Given the description of an element on the screen output the (x, y) to click on. 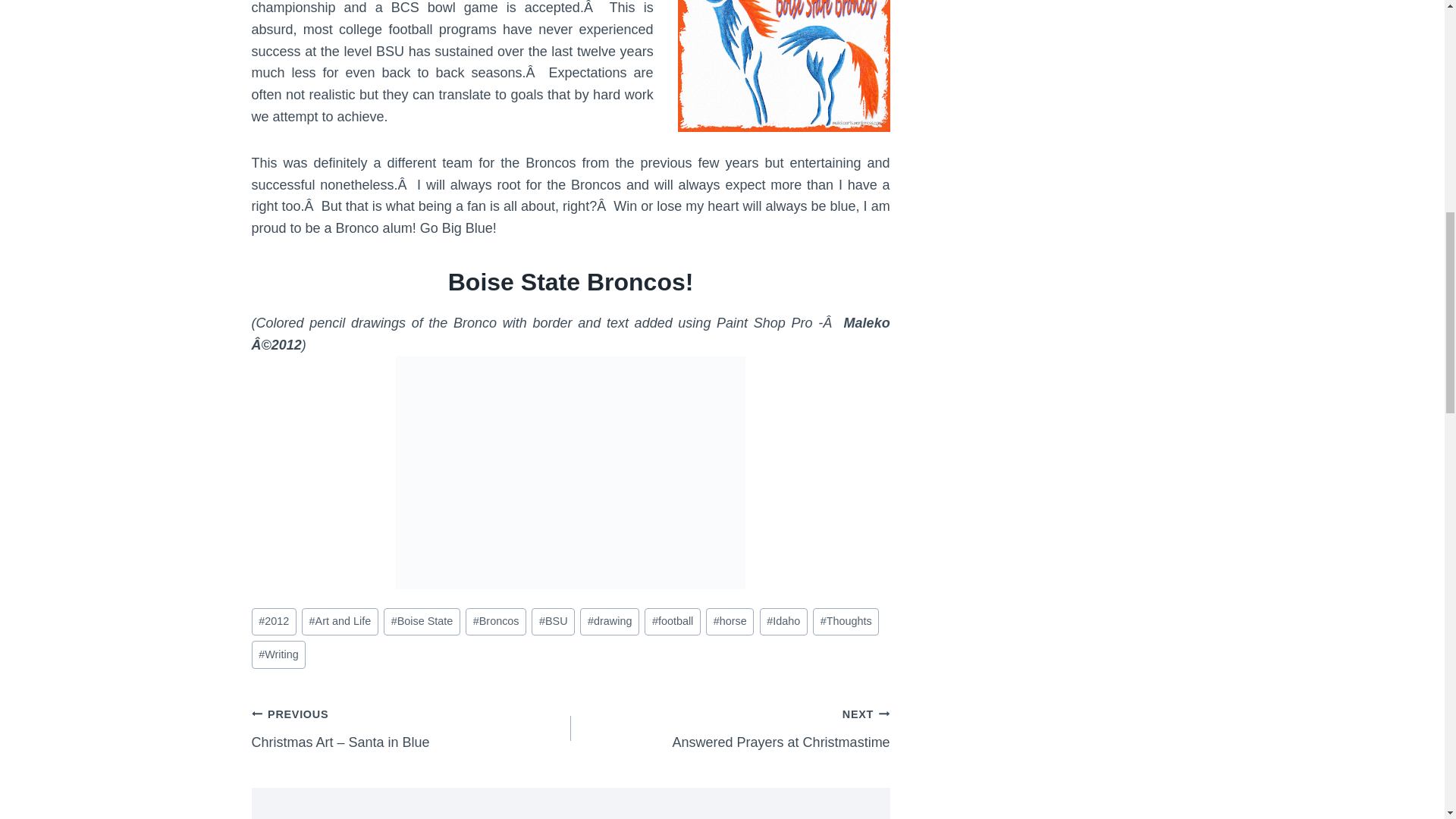
BSU (553, 622)
BSU - Orange (783, 65)
2012 (274, 622)
Thoughts (845, 622)
Idaho (784, 622)
drawing (609, 622)
Writing (278, 654)
Broncos (495, 622)
horse (730, 622)
football (672, 622)
